Given the description of an element on the screen output the (x, y) to click on. 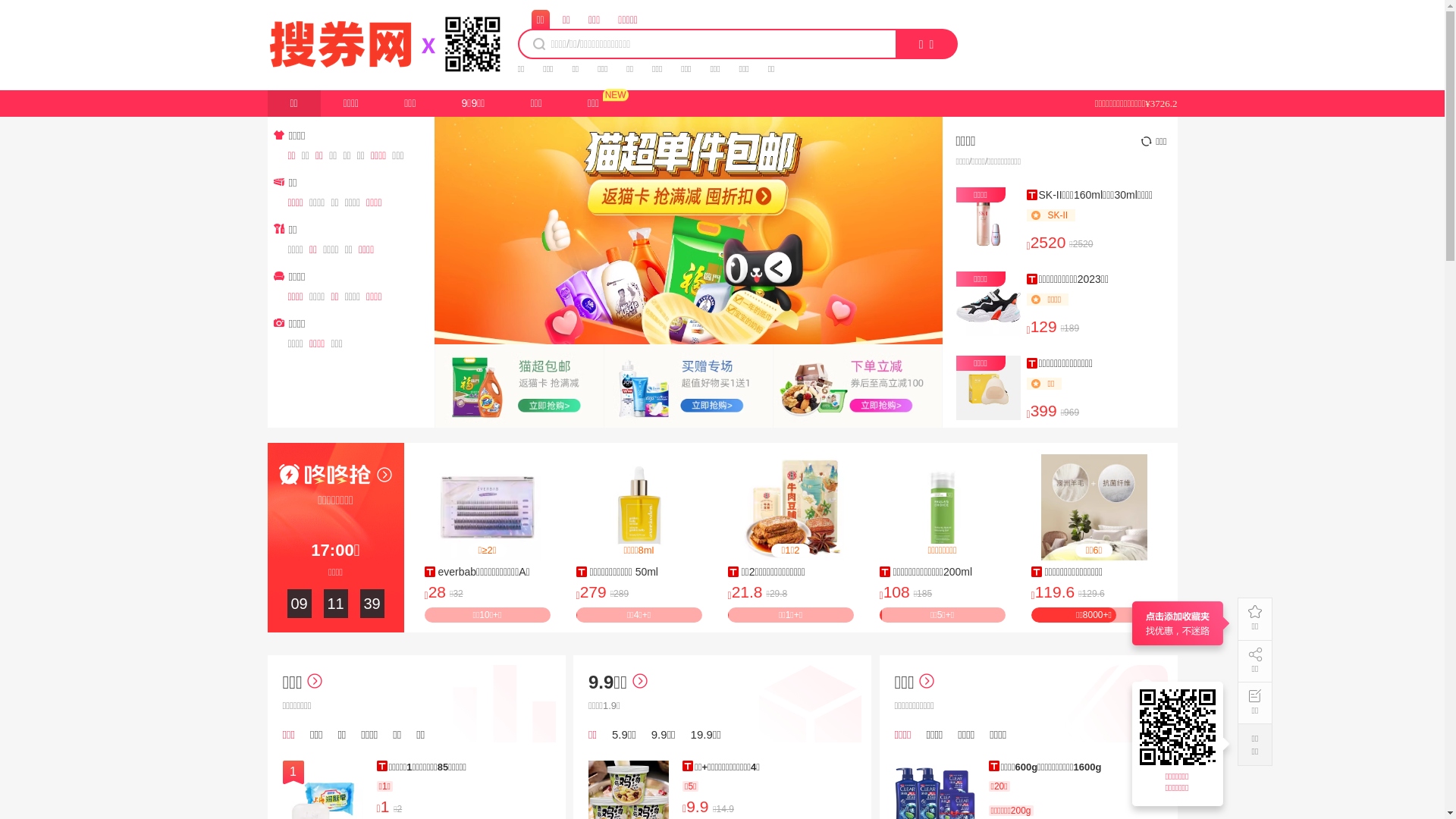
https://17.souquan.wang Element type: hover (1179, 727)
